Given the description of an element on the screen output the (x, y) to click on. 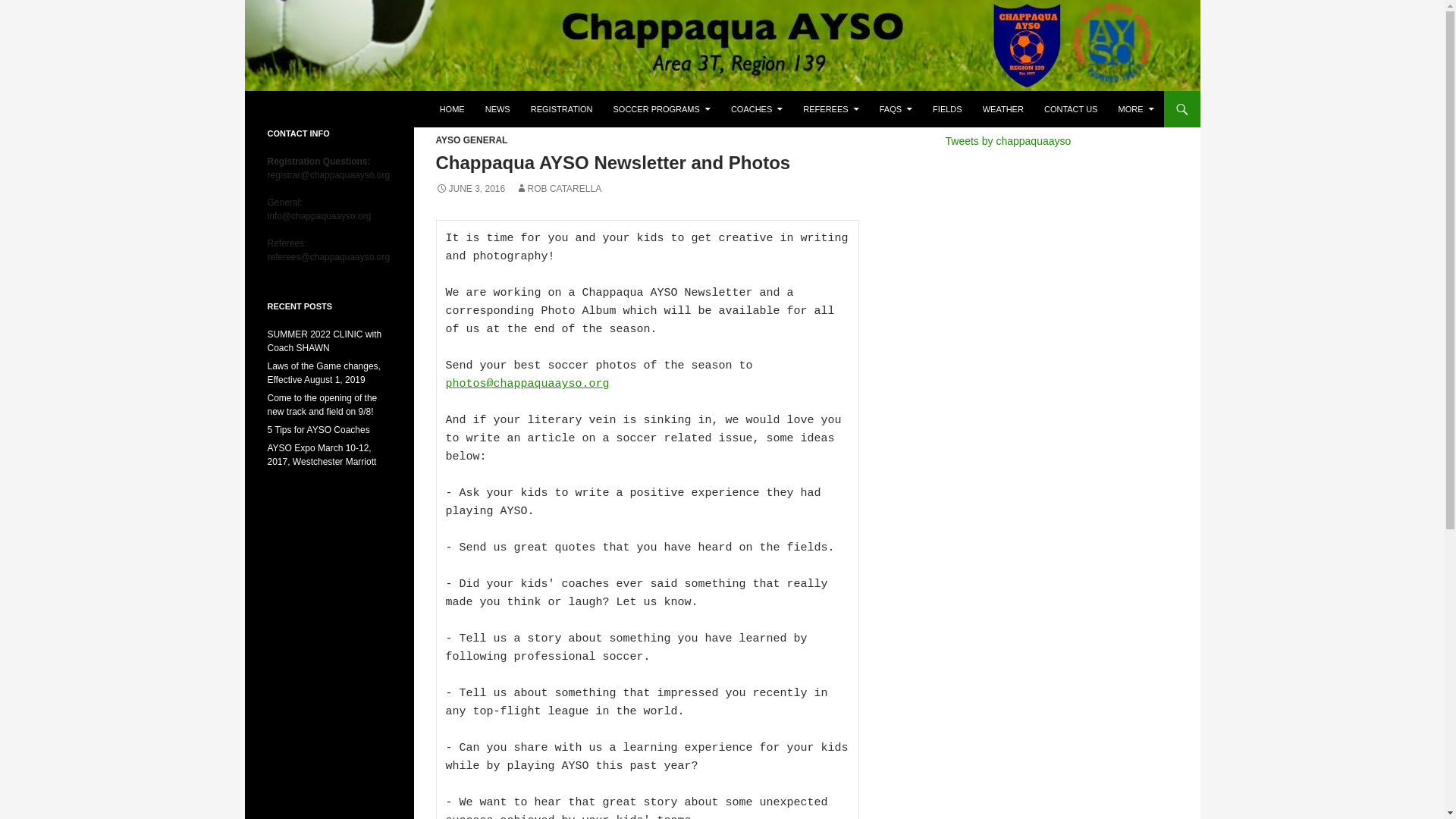
MORE (1134, 108)
REFEREES (830, 108)
CONTACT US (1070, 108)
NEWS (497, 108)
COACHES (757, 108)
FIELDS (947, 108)
Chappaqua AYSO (343, 108)
WEATHER (1003, 108)
REGISTRATION (561, 108)
SOCCER PROGRAMS (661, 108)
FAQS (895, 108)
HOME (452, 108)
